Given the description of an element on the screen output the (x, y) to click on. 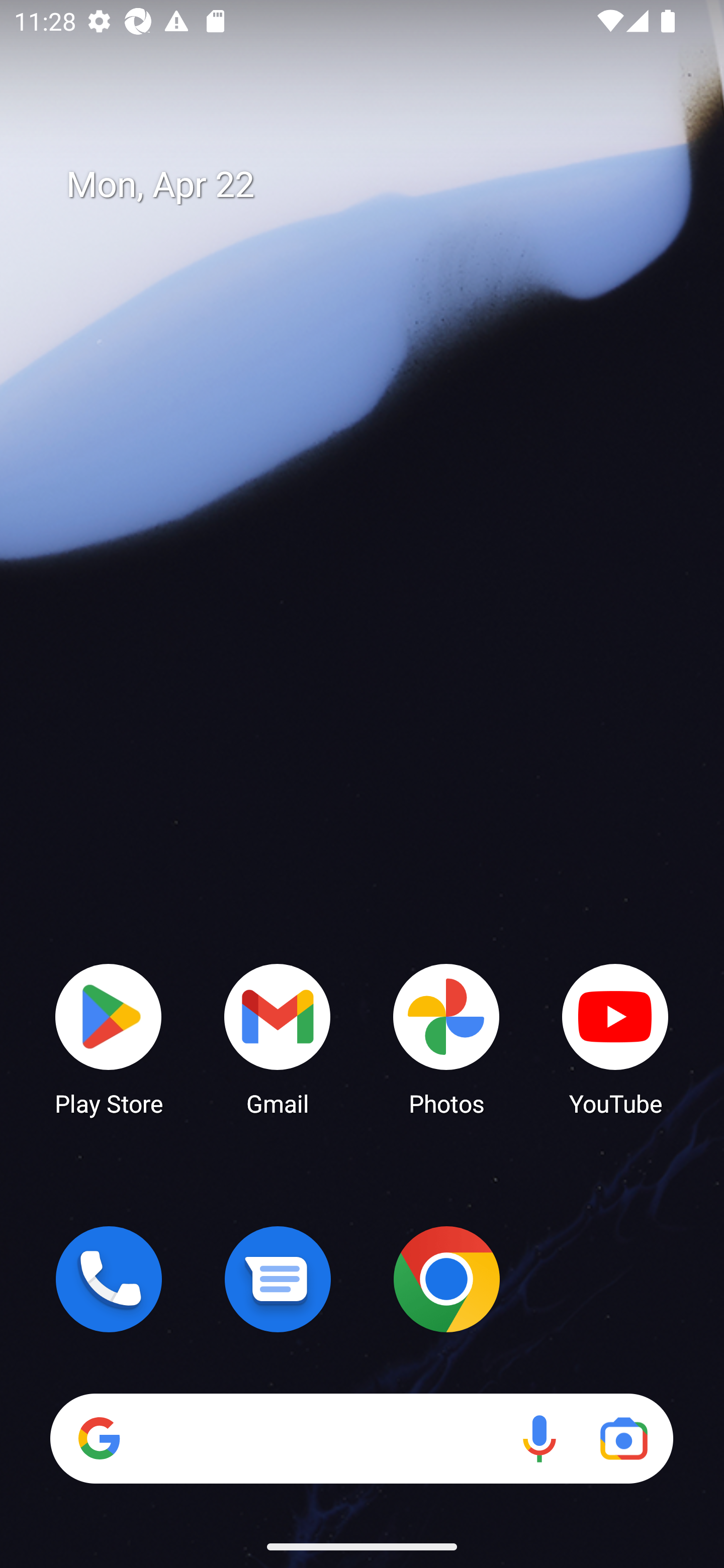
Mon, Apr 22 (375, 184)
Play Store (108, 1038)
Gmail (277, 1038)
Photos (445, 1038)
YouTube (615, 1038)
Phone (108, 1279)
Messages (277, 1279)
Chrome (446, 1279)
Search Voice search Google Lens (361, 1438)
Voice search (539, 1438)
Google Lens (623, 1438)
